Given the description of an element on the screen output the (x, y) to click on. 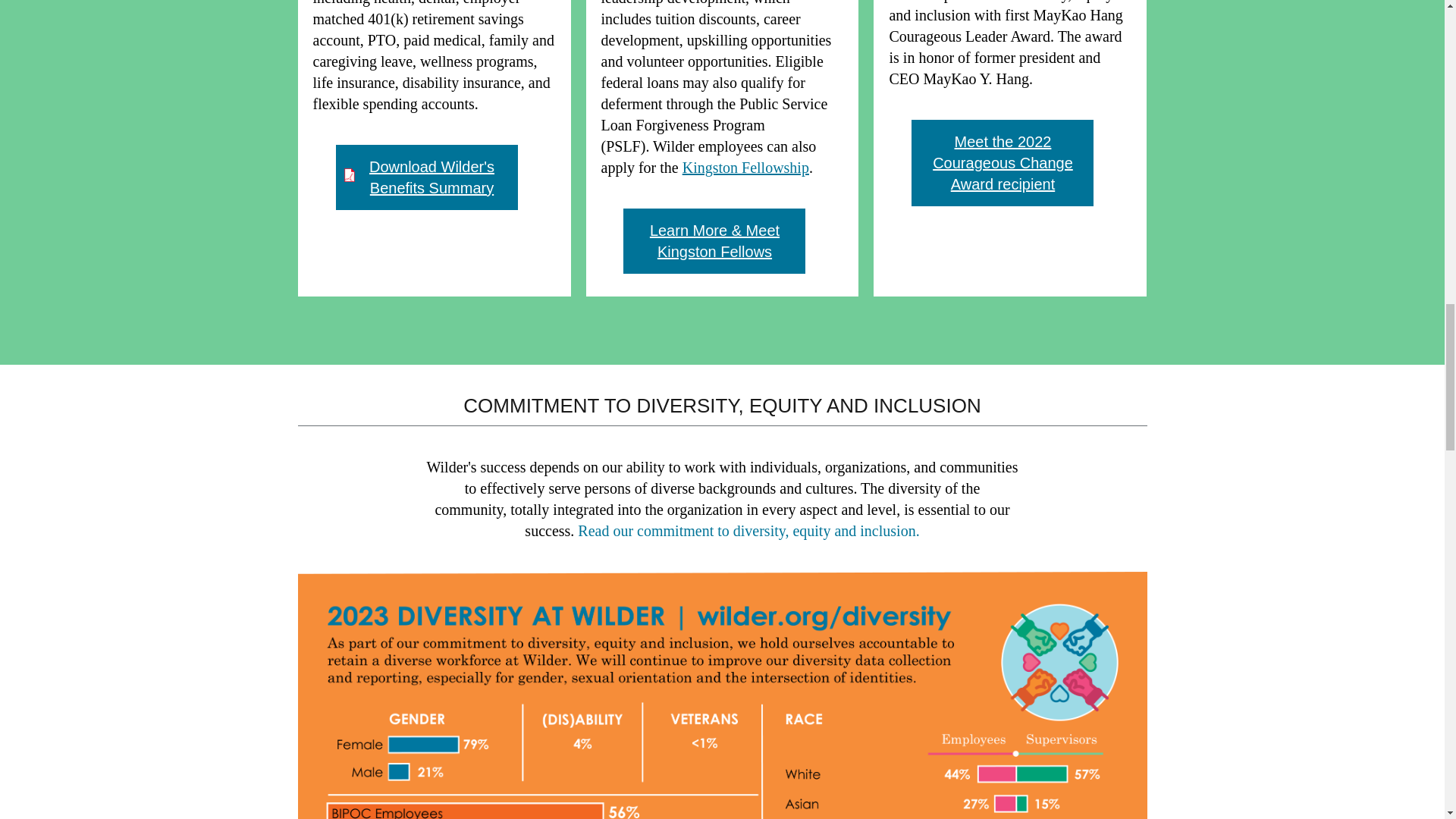
Kingston Fellowship for Wilder Employees (745, 167)
